Given the description of an element on the screen output the (x, y) to click on. 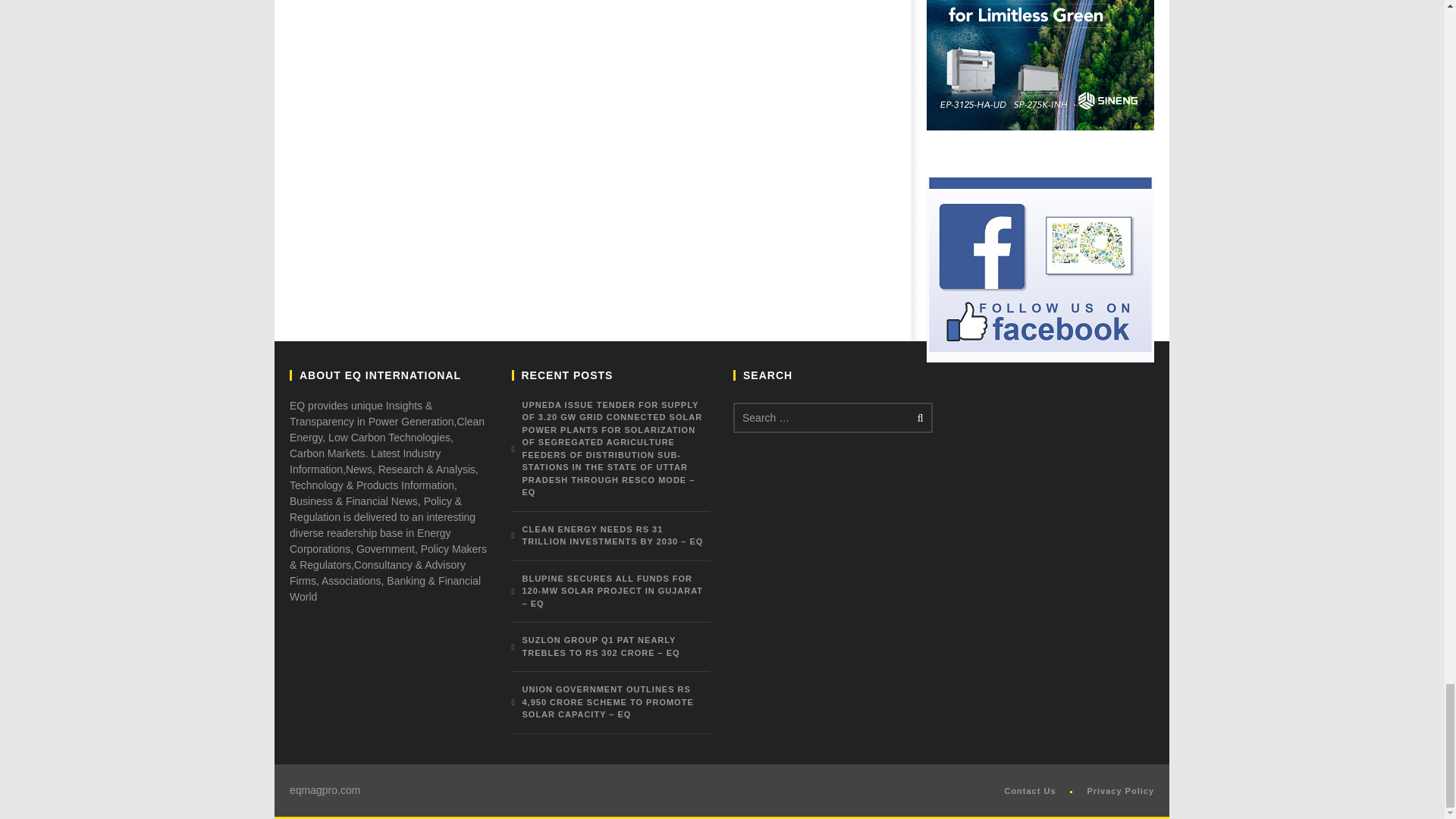
Search (917, 417)
Search (917, 417)
